Given the description of an element on the screen output the (x, y) to click on. 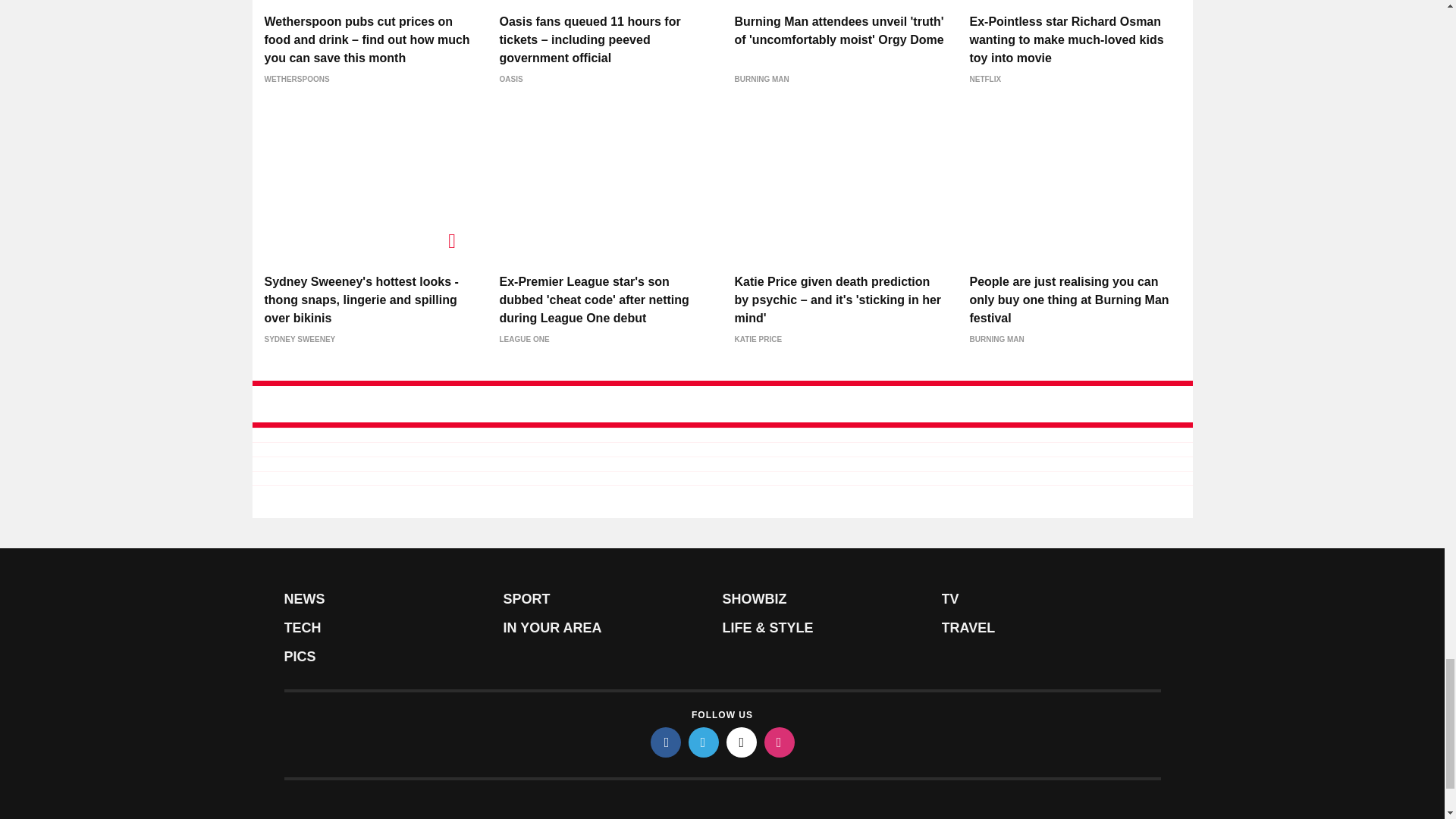
twitter (703, 742)
instagram (779, 742)
tiktok (741, 742)
facebook (665, 742)
